Given the description of an element on the screen output the (x, y) to click on. 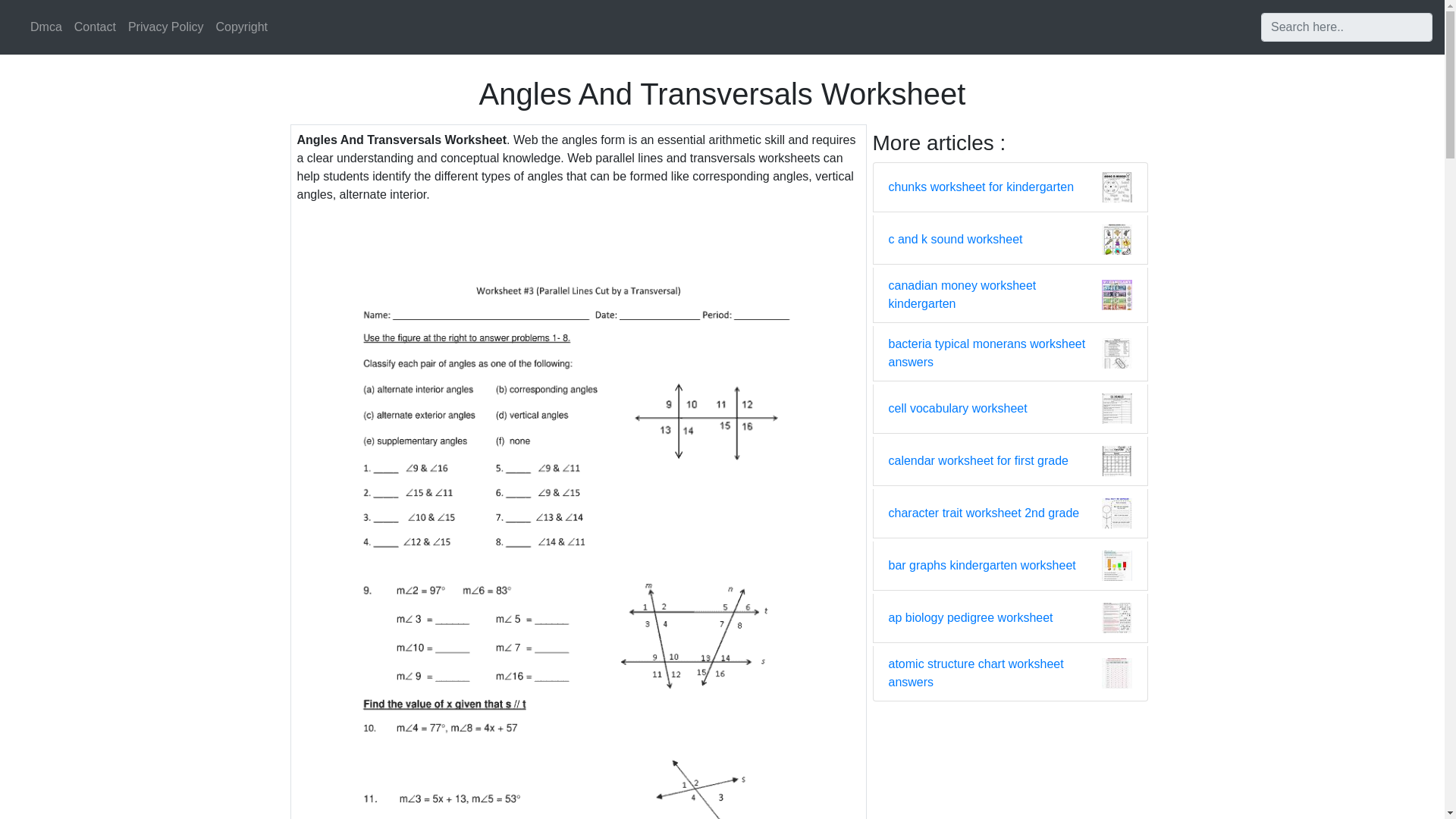
bar graphs kindergarten worksheet (981, 565)
atomic structure chart worksheet answers (995, 673)
calendar worksheet for first grade (978, 461)
Copyright (241, 27)
Contact (95, 27)
Privacy Policy (165, 27)
c and k sound worksheet (955, 239)
character trait worksheet 2nd grade (984, 513)
cell vocabulary worksheet (957, 408)
chunks worksheet for kindergarten (981, 187)
